Given the description of an element on the screen output the (x, y) to click on. 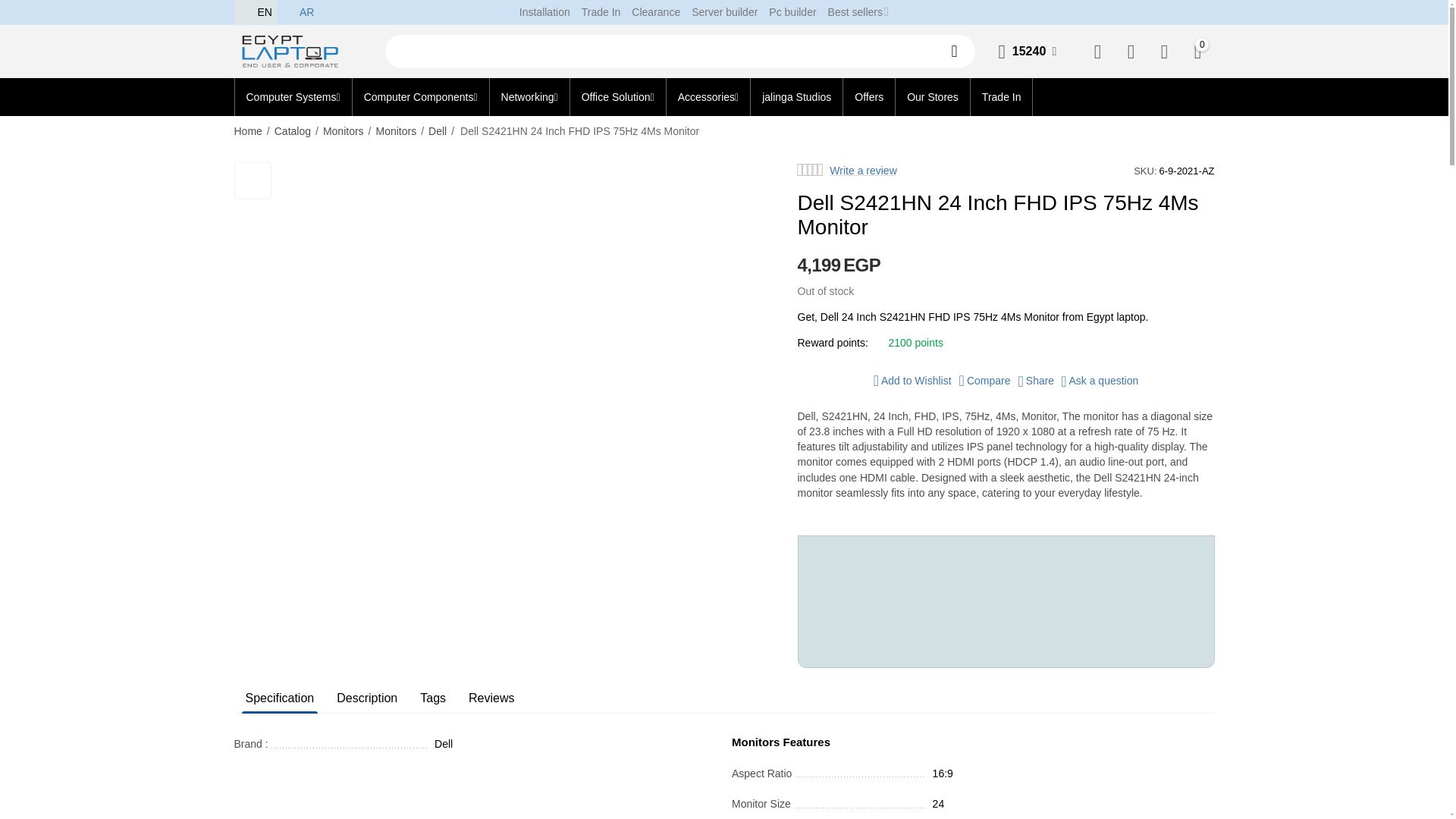
Change language (254, 12)
FLY: Languages (244, 11)
15240 (1029, 50)
FLY: Languages (287, 11)
egyptlaptop logo (293, 51)
Search products (680, 51)
Change language (297, 12)
EN (254, 12)
AR (297, 12)
egyptlaptop logo (293, 50)
Search (958, 51)
